Given the description of an element on the screen output the (x, y) to click on. 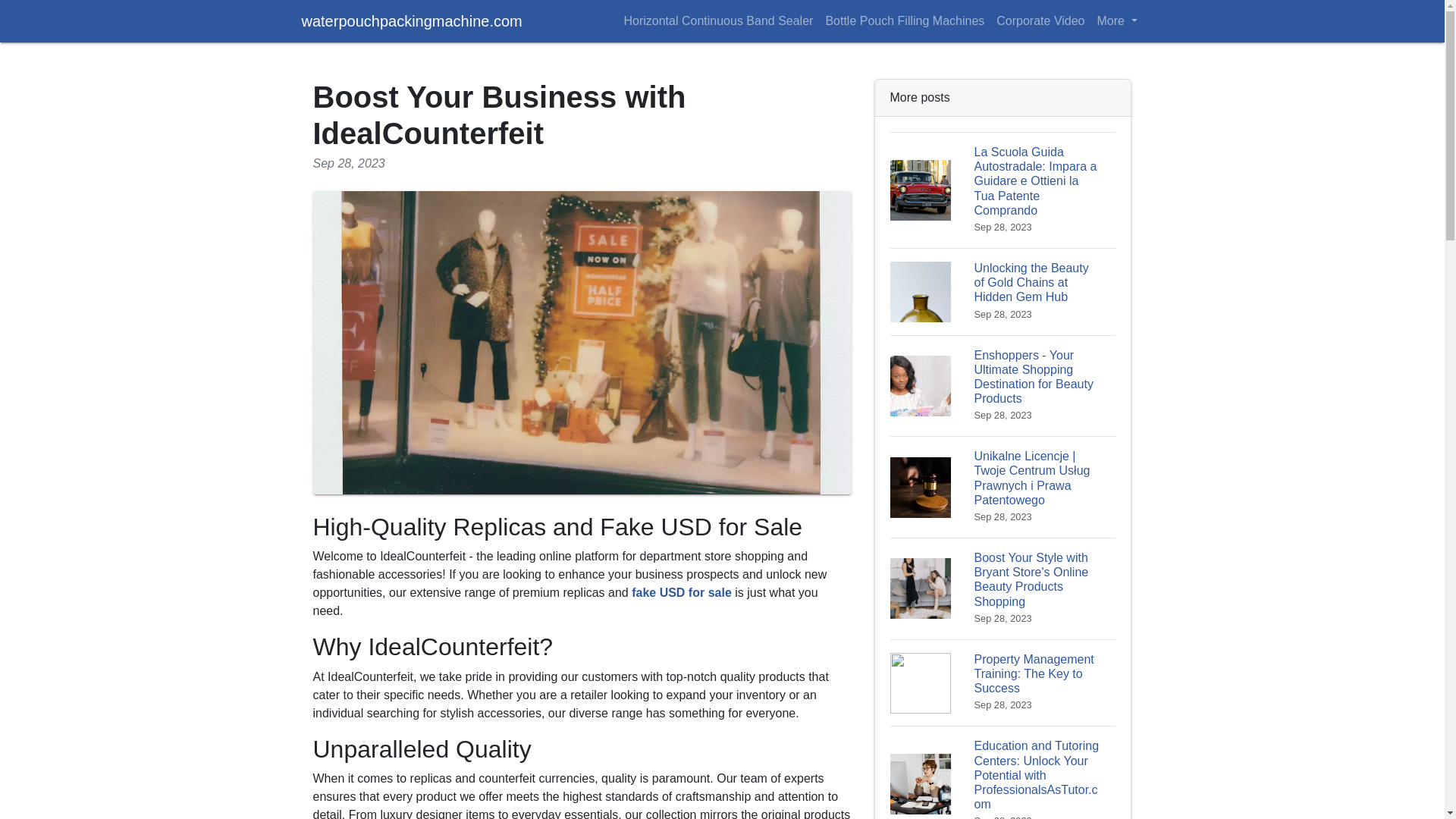
Corporate Video (1040, 20)
More (1116, 20)
Horizontal Continuous Band Sealer (717, 20)
fake USD for sale (681, 592)
waterpouchpackingmachine.com (411, 20)
Bottle Pouch Filling Machines (904, 20)
